Given the description of an element on the screen output the (x, y) to click on. 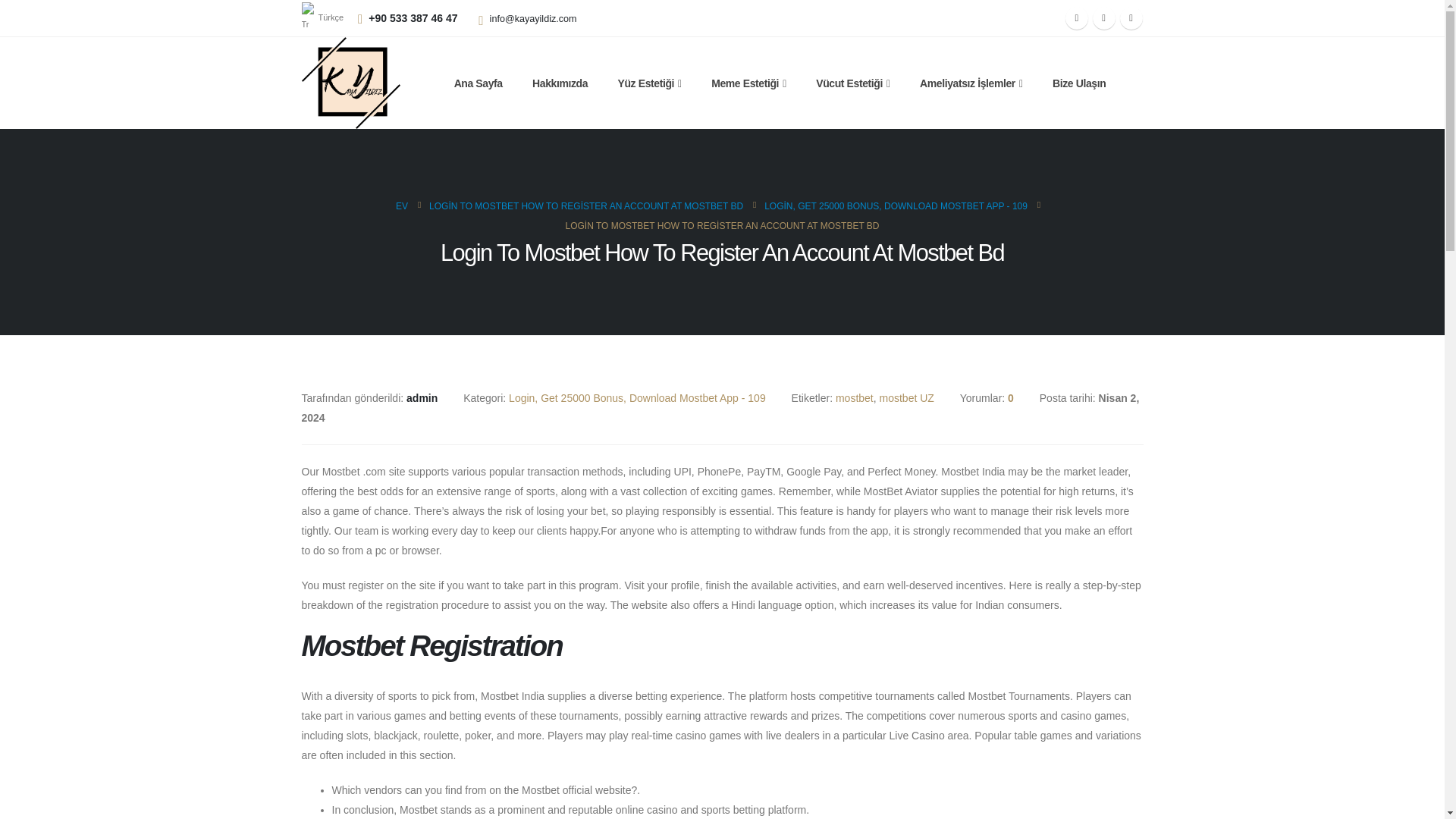
Ana Sayfa (477, 83)
Twitter (1104, 17)
Facebook (1076, 17)
Instagram (1130, 17)
